Given the description of an element on the screen output the (x, y) to click on. 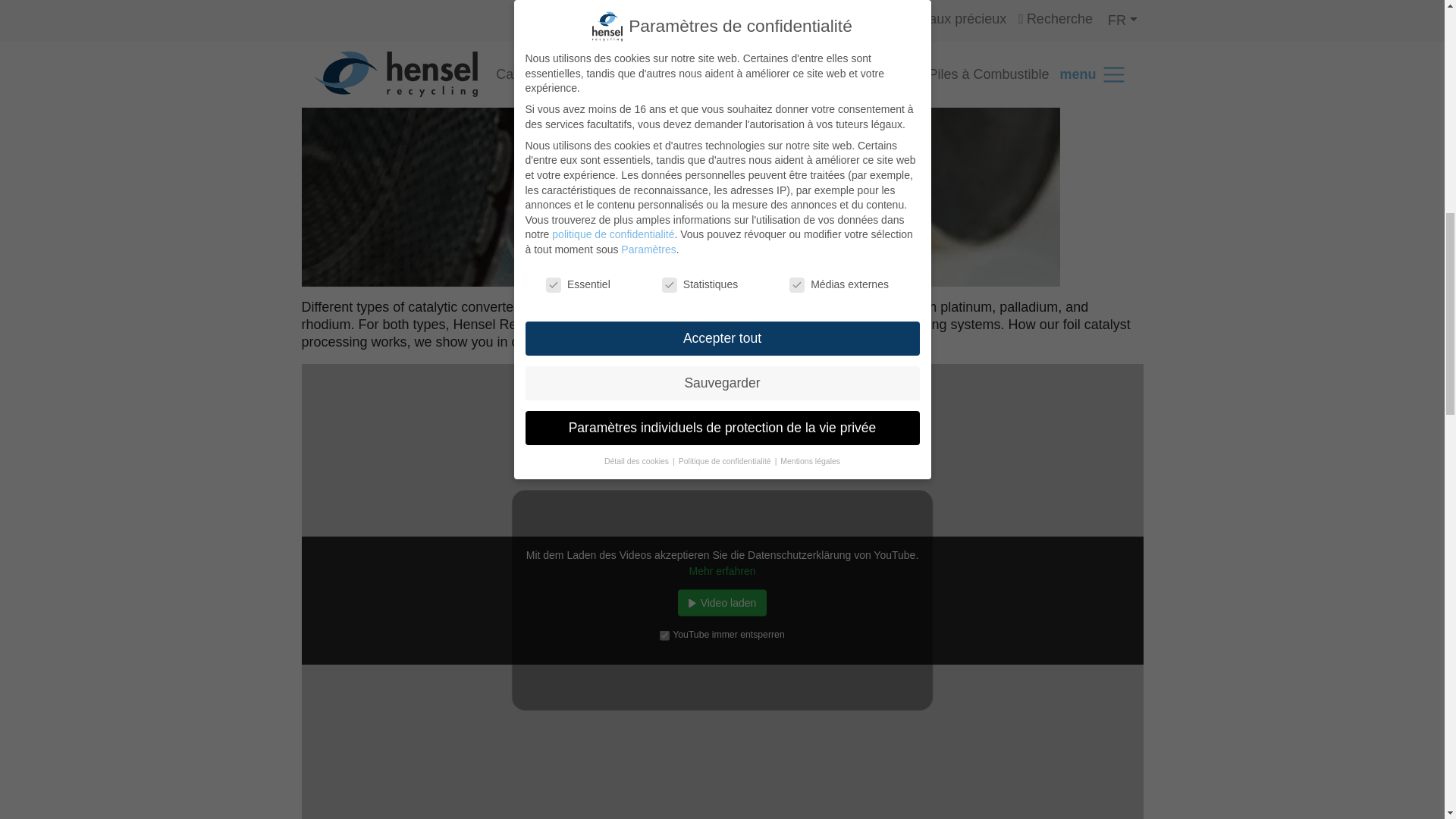
1 (664, 634)
